Given the description of an element on the screen output the (x, y) to click on. 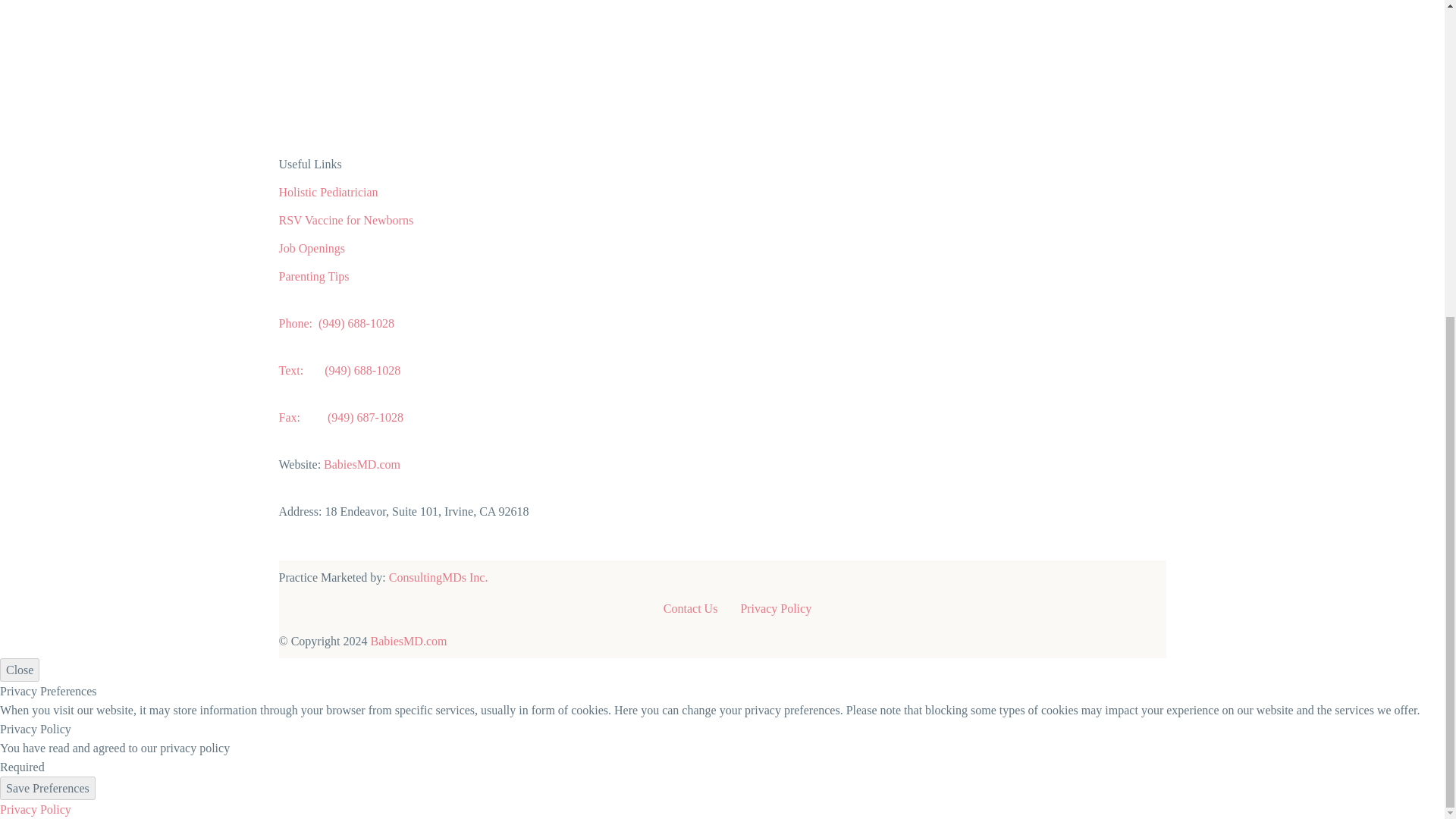
Holistic Pediatrician (328, 192)
RSV Vaccine for Newborns (346, 219)
BabiesMD.com (361, 463)
Privacy Policy (35, 809)
Job Openings (312, 247)
ConsultingMDs Inc. (437, 576)
Contact Us (690, 608)
Parenting Tips (314, 276)
BabiesMD.com (408, 640)
Close (19, 669)
